Given the description of an element on the screen output the (x, y) to click on. 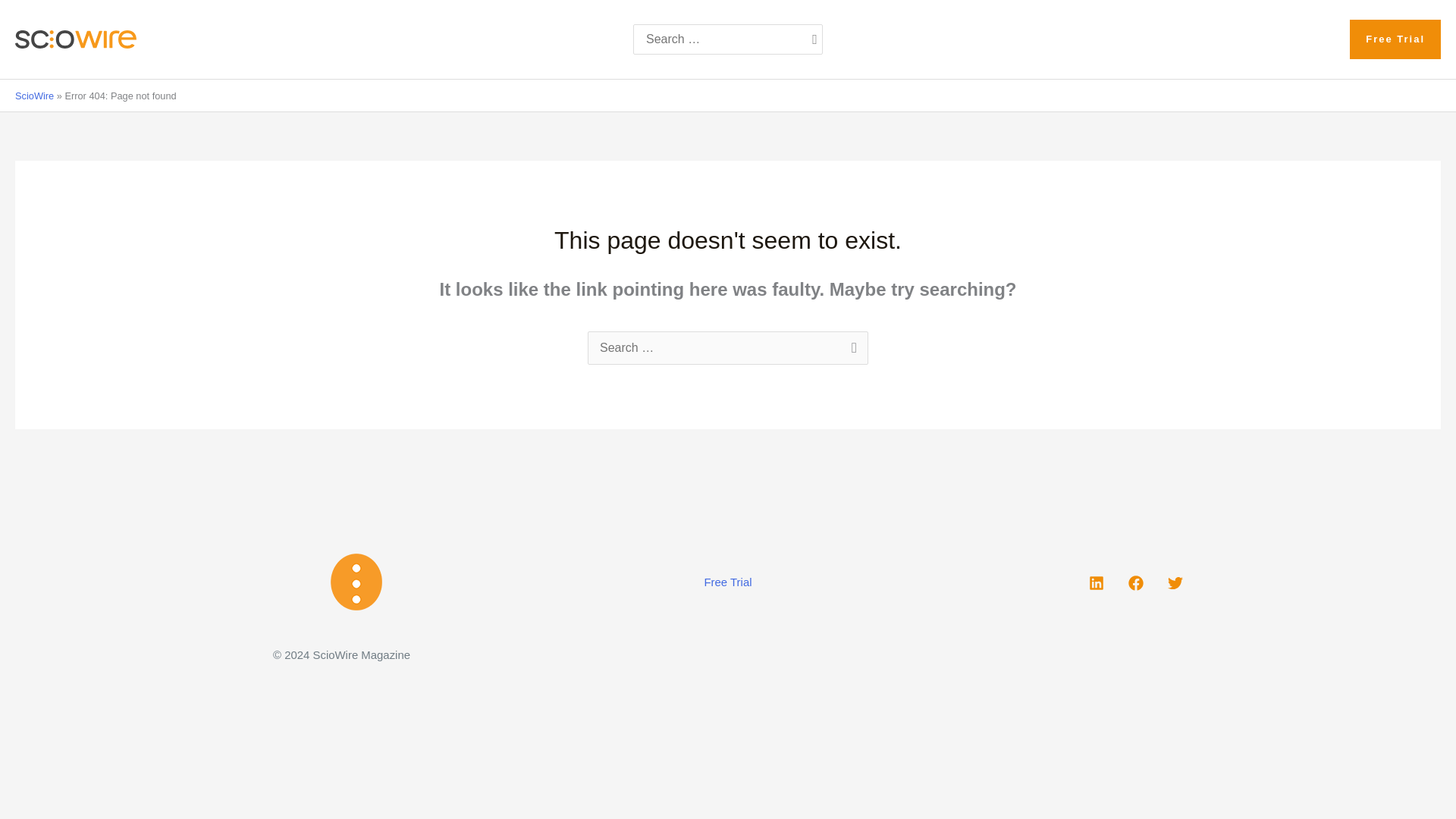
Free Trial (1395, 38)
Search (850, 349)
Free Trial (727, 581)
Search (850, 349)
Search (850, 349)
ScioWire (33, 95)
